Given the description of an element on the screen output the (x, y) to click on. 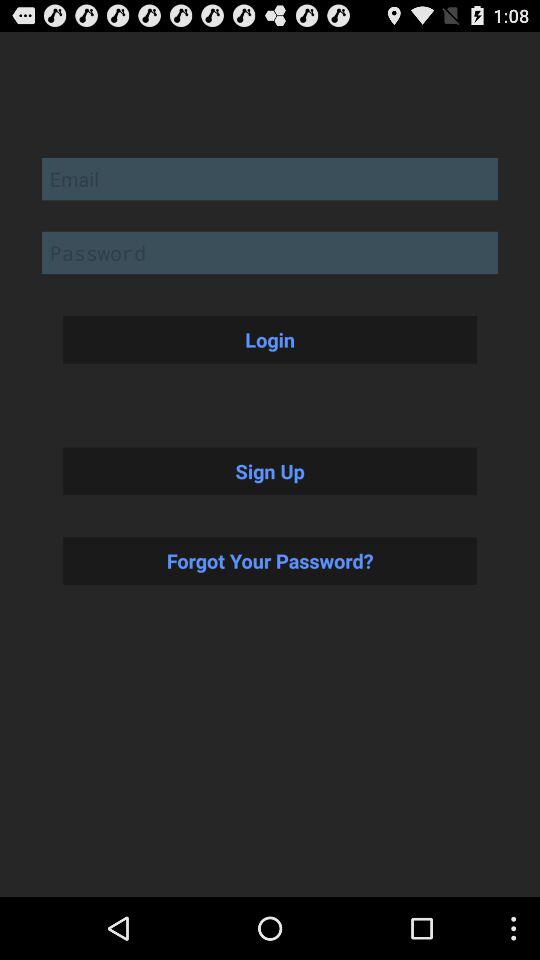
jump until the login icon (269, 339)
